Given the description of an element on the screen output the (x, y) to click on. 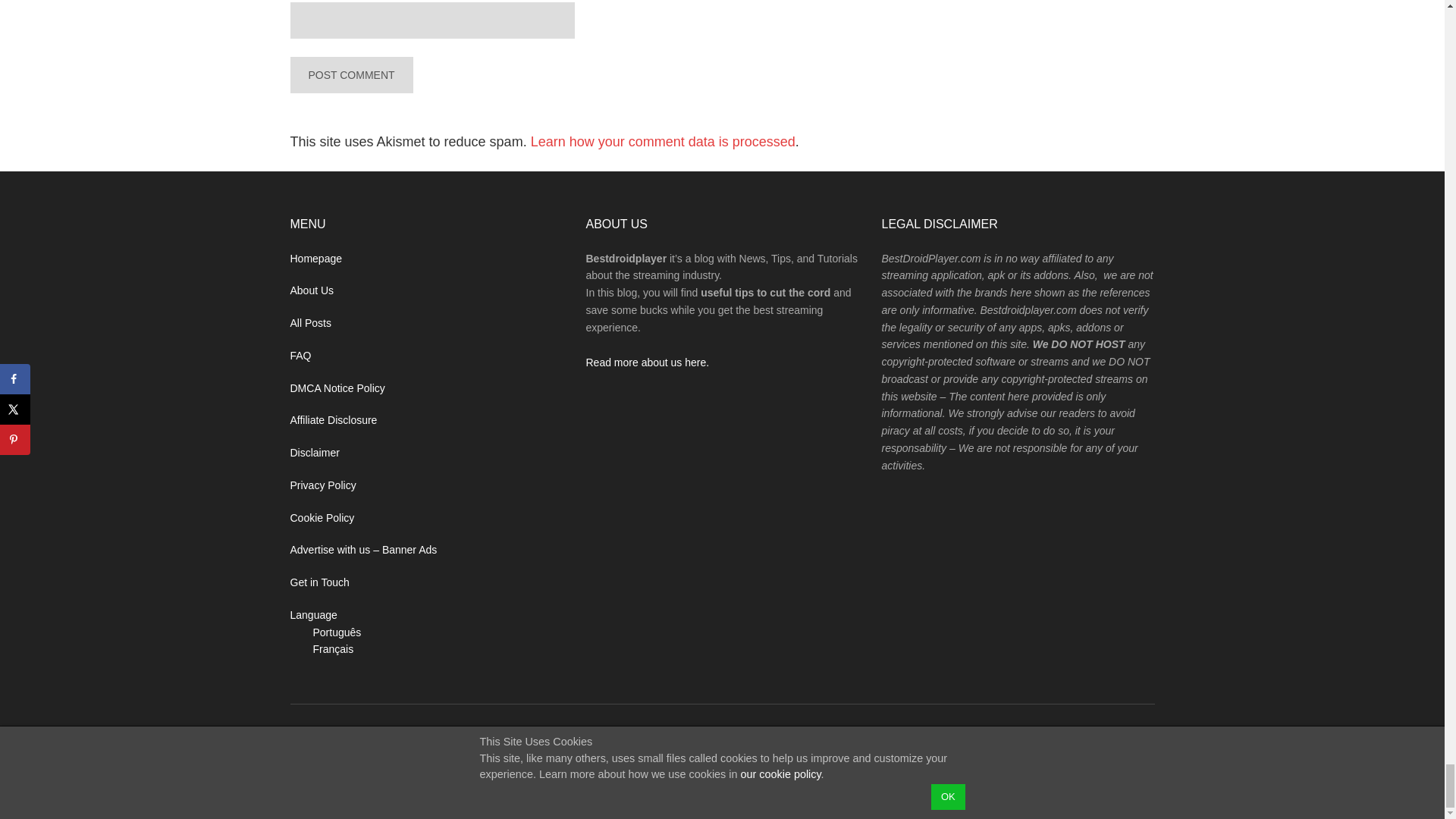
Post Comment (350, 74)
